Given the description of an element on the screen output the (x, y) to click on. 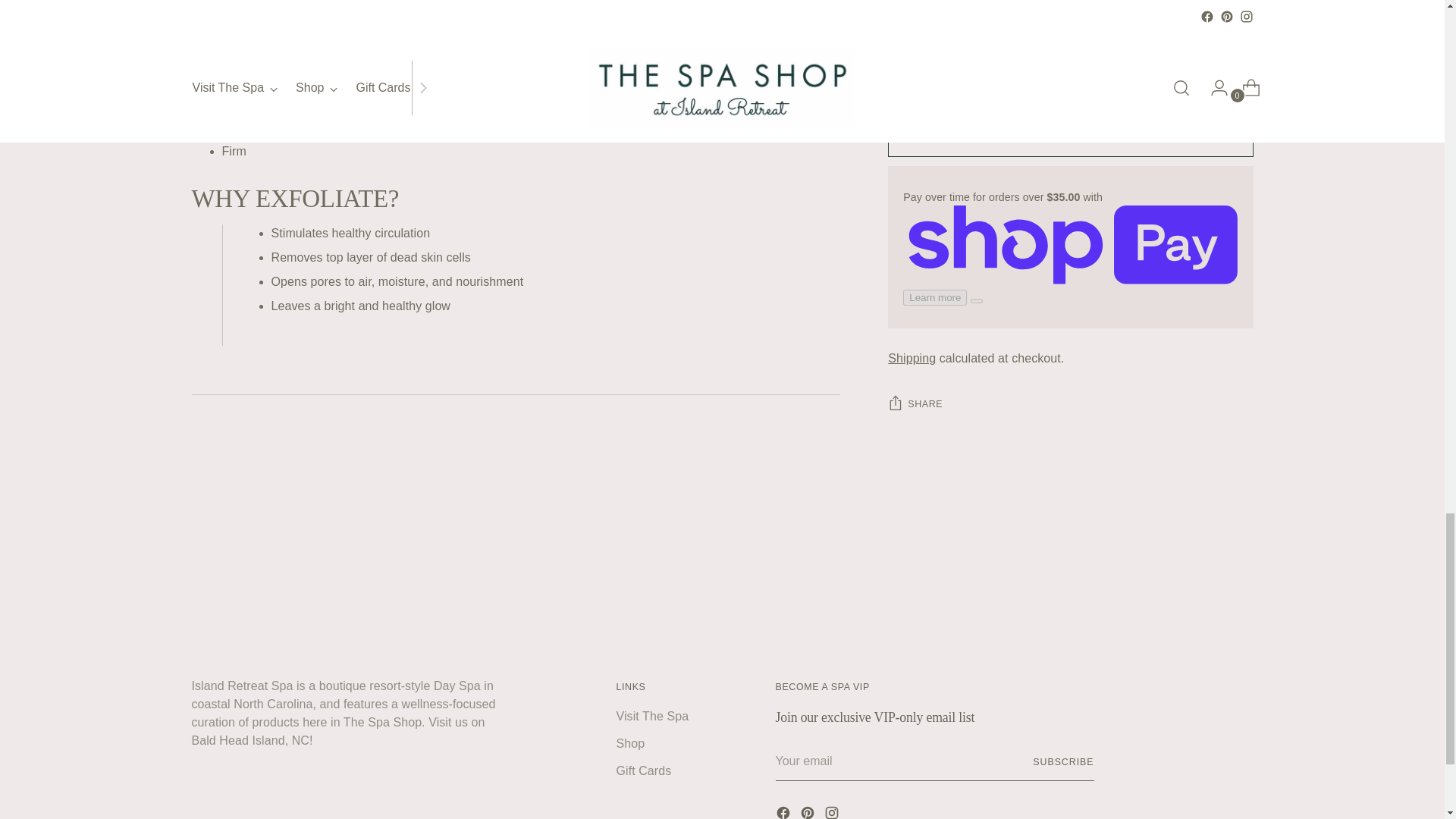
Island Retreat Spa Shop on Instagram (832, 812)
Island Retreat Spa Shop on Facebook (783, 812)
Island Retreat Spa Shop on Pinterest (807, 812)
